Given the description of an element on the screen output the (x, y) to click on. 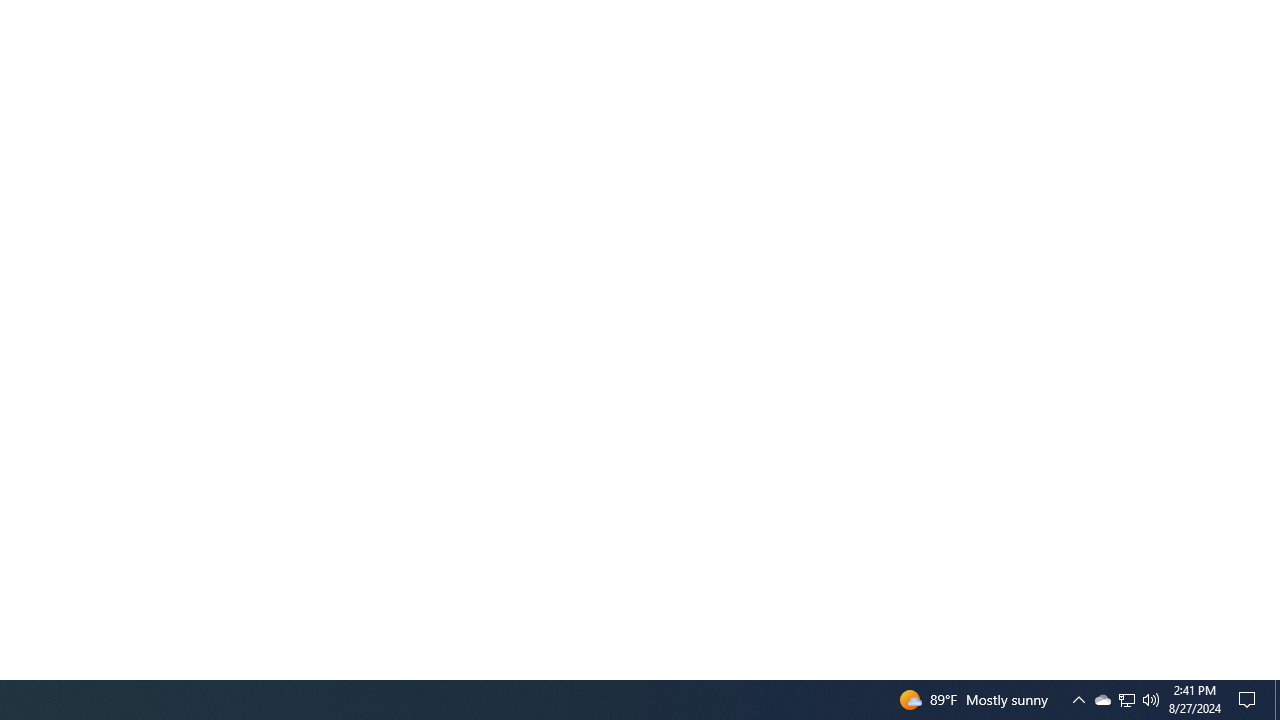
Action Center, No new notifications (1250, 699)
User Promoted Notification Area (1126, 699)
Show desktop (1126, 699)
Q2790: 100% (1277, 699)
Notification Chevron (1102, 699)
